Given the description of an element on the screen output the (x, y) to click on. 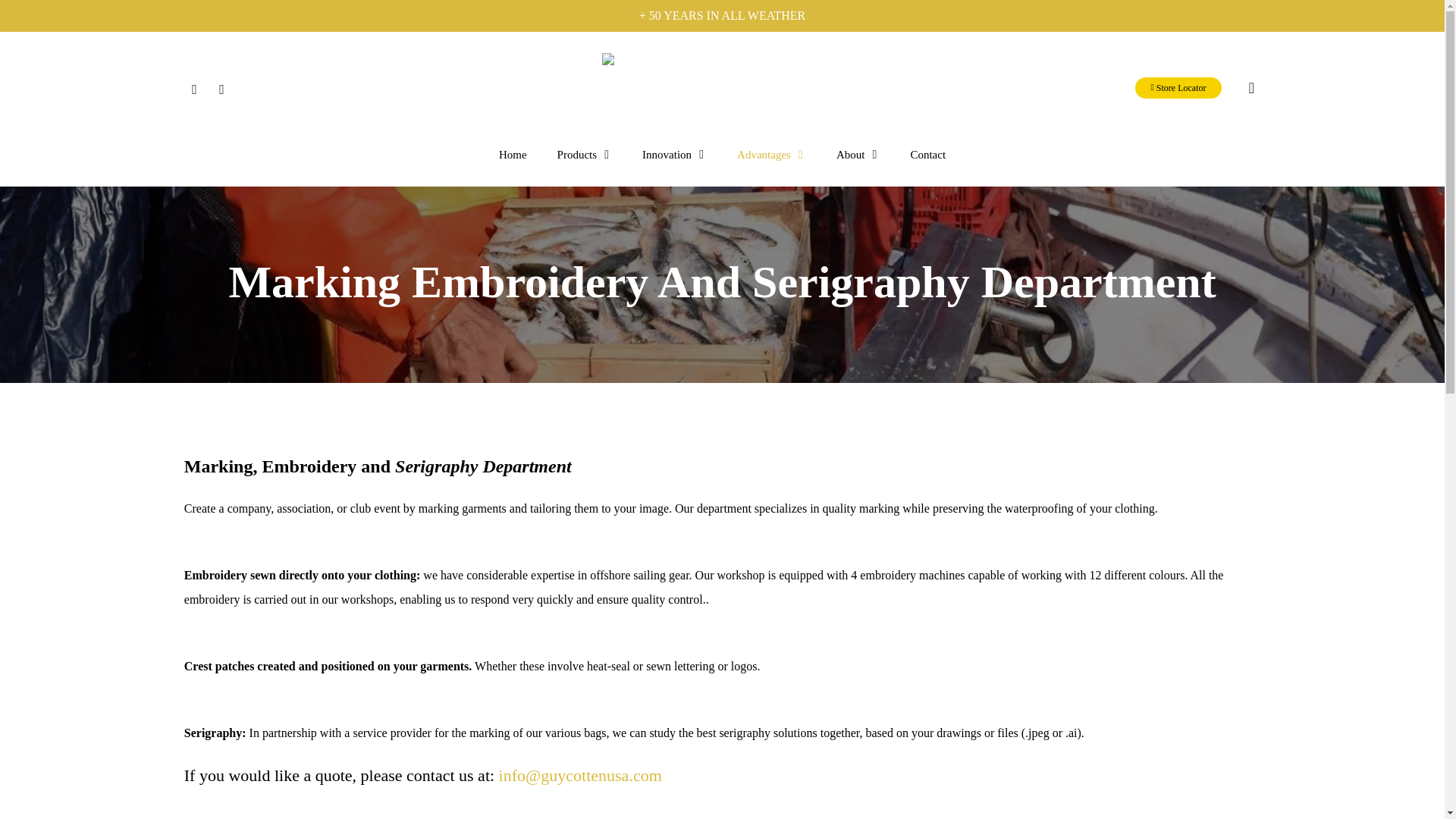
search (1250, 88)
Facebook (194, 87)
About (858, 154)
Innovation (674, 154)
Instagram (221, 87)
Products (584, 154)
Advantages (771, 154)
Store Locator (1178, 87)
Home (512, 154)
